Given the description of an element on the screen output the (x, y) to click on. 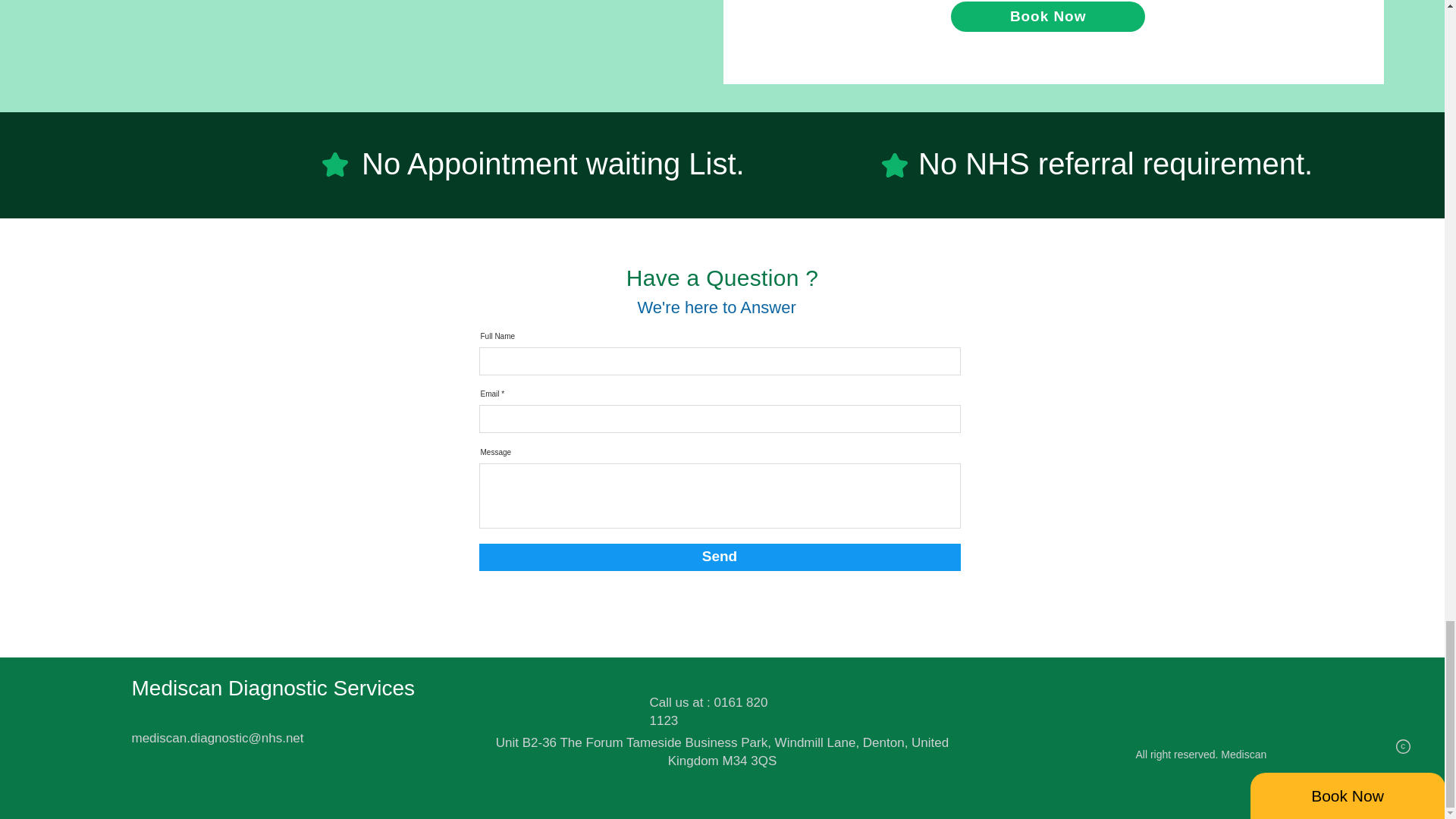
Send (719, 556)
Call us at : 0161 820 1123 (708, 711)
Book Now (1047, 16)
